Given the description of an element on the screen output the (x, y) to click on. 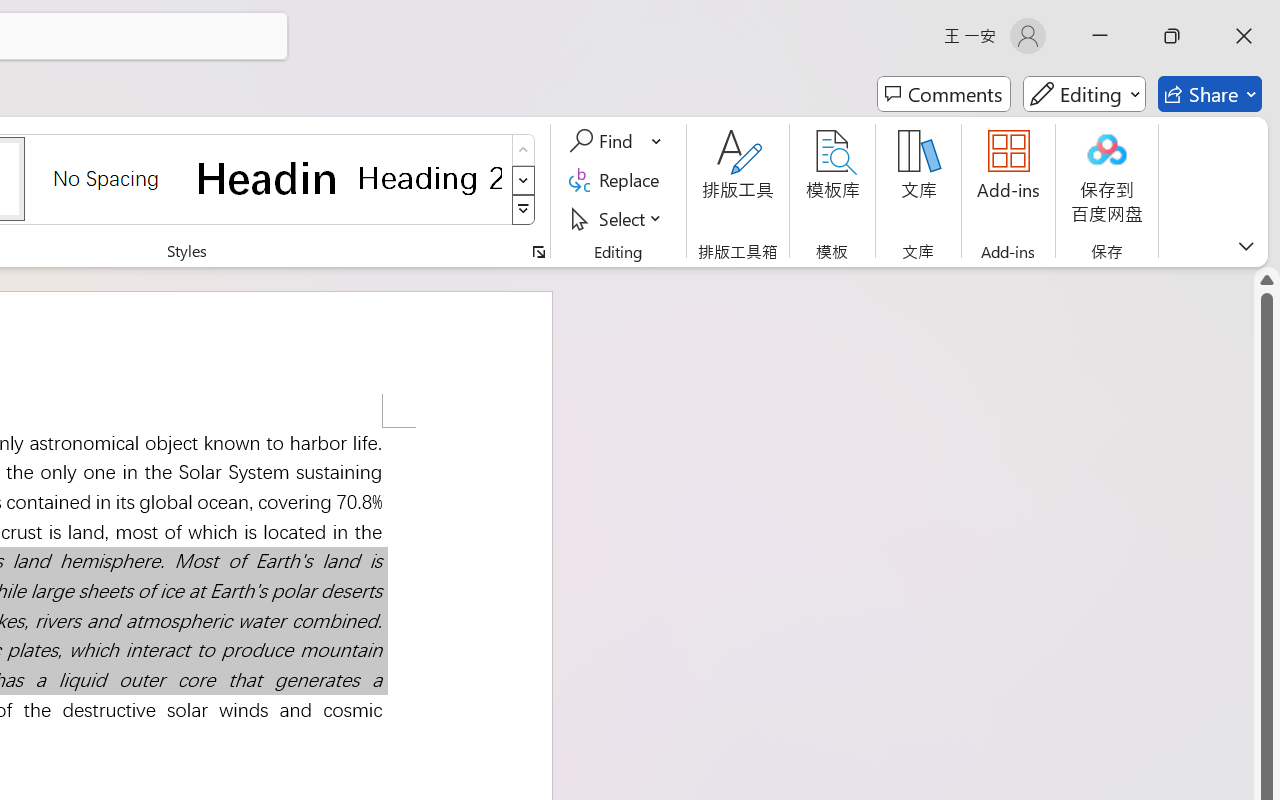
Line up (1267, 279)
Row Down (523, 180)
Styles... (538, 252)
Heading 1 (267, 178)
Styles (523, 209)
Heading 2 (429, 178)
Select (618, 218)
Row up (523, 150)
